Given the description of an element on the screen output the (x, y) to click on. 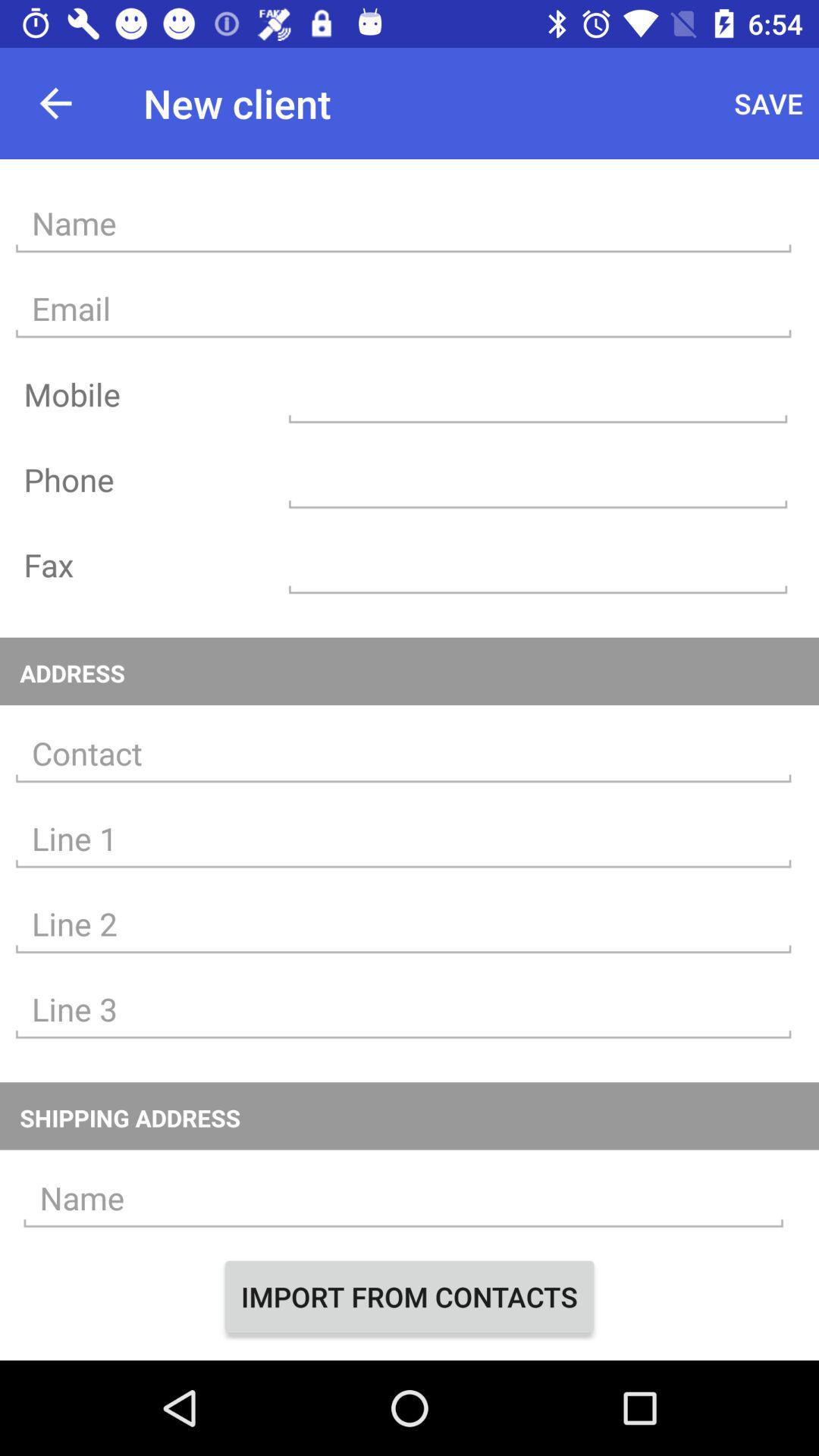
type street address (403, 838)
